Given the description of an element on the screen output the (x, y) to click on. 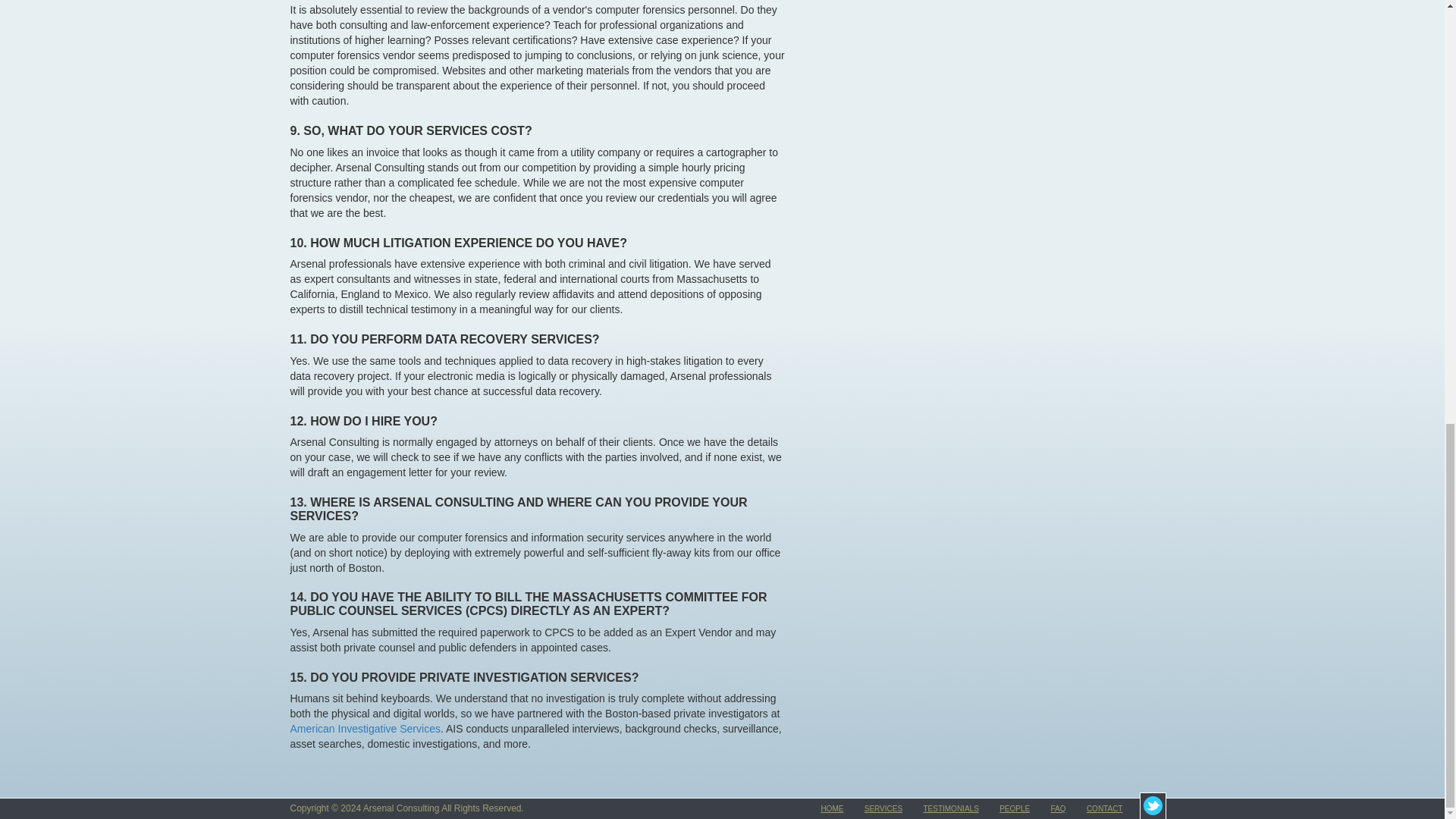
TESTIMONIALS (950, 808)
PEOPLE (1013, 808)
Home (832, 808)
FAQ (1058, 808)
American Investigative Services (364, 728)
HOME (832, 808)
Testimonials (950, 808)
CONTACT (1104, 808)
Services (883, 808)
Locations (1104, 808)
